Given the description of an element on the screen output the (x, y) to click on. 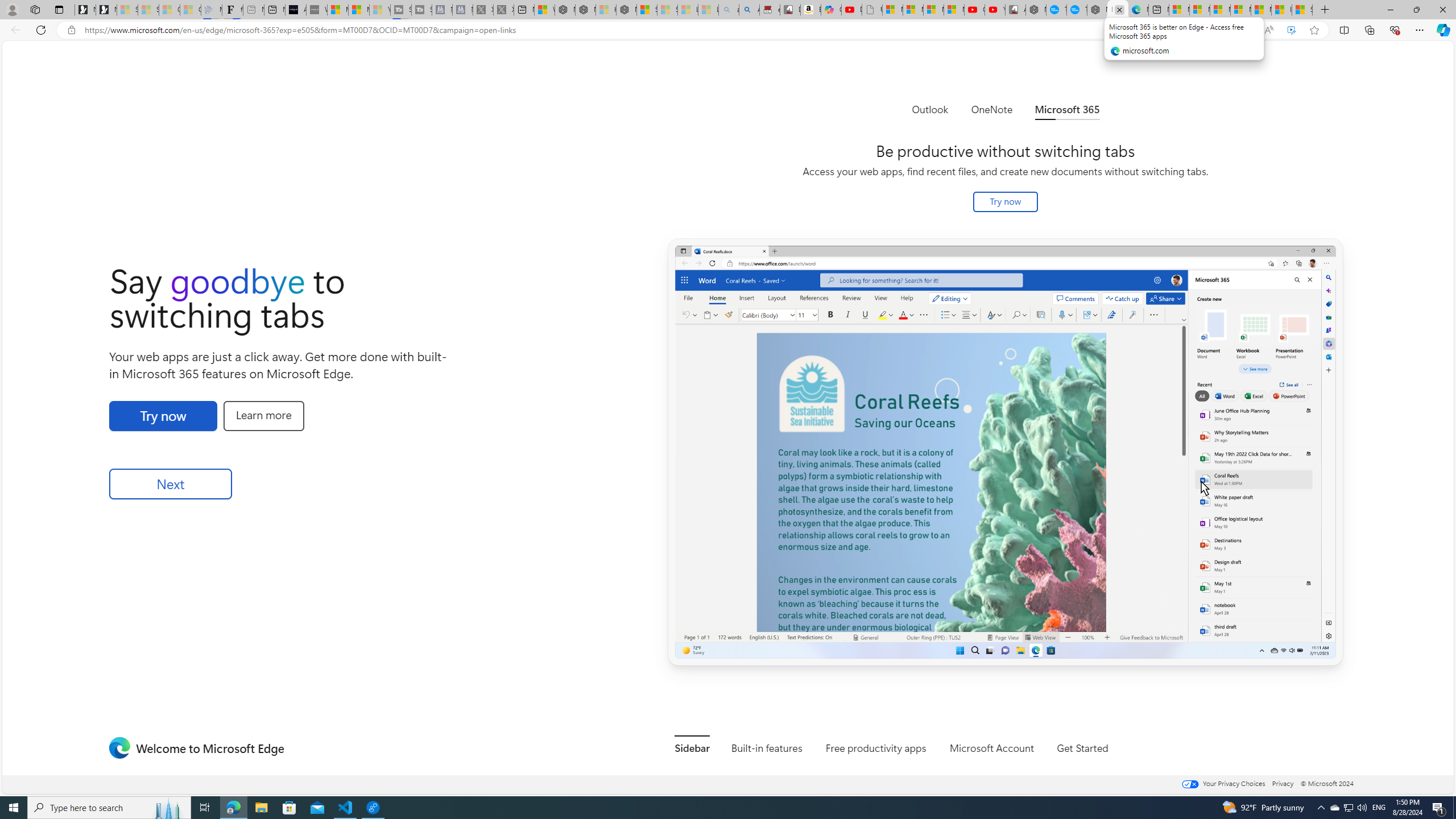
Close (1442, 9)
Nordace - My Account (1035, 9)
